Given the description of an element on the screen output the (x, y) to click on. 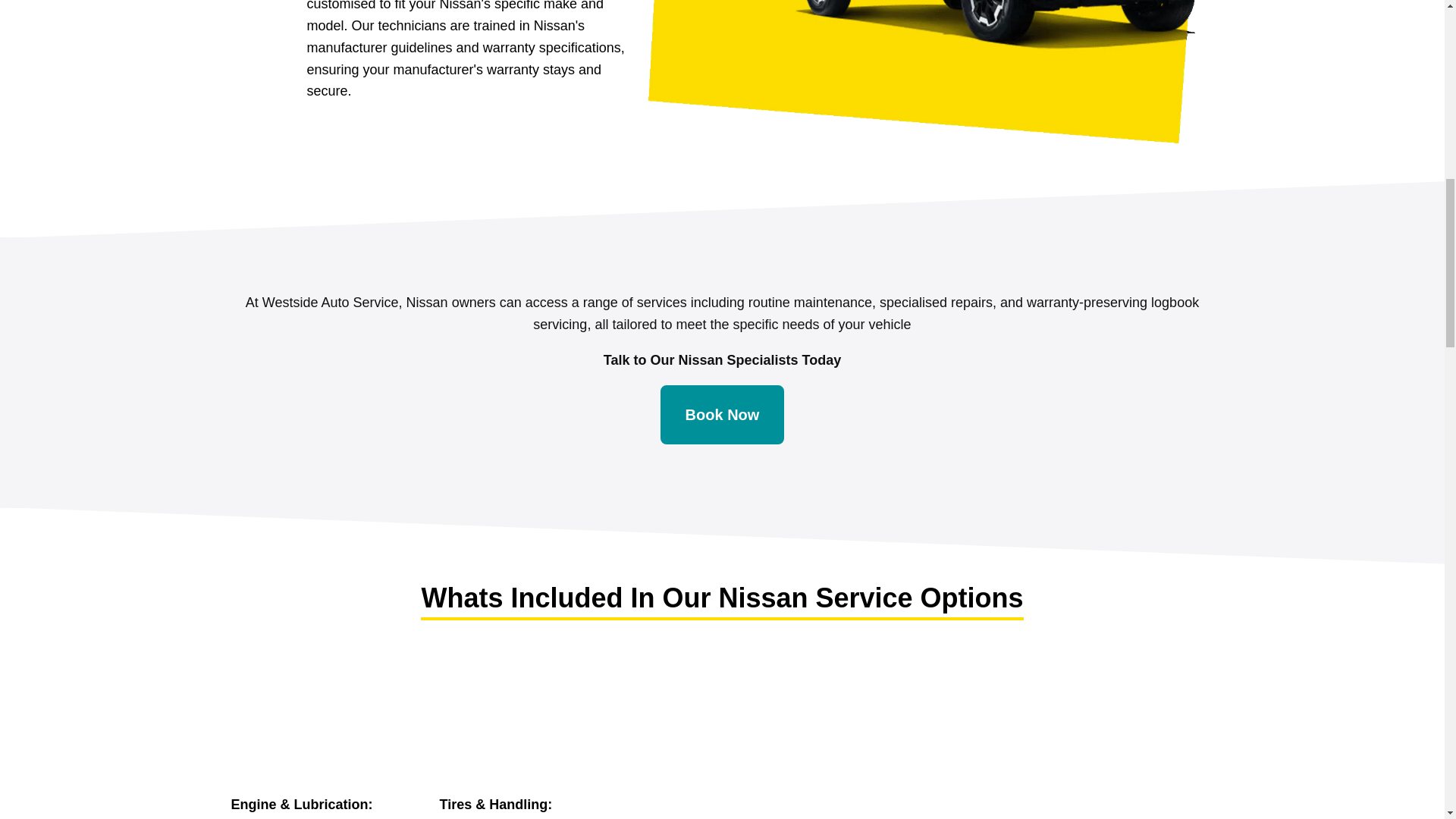
Book Now (722, 414)
